Given the description of an element on the screen output the (x, y) to click on. 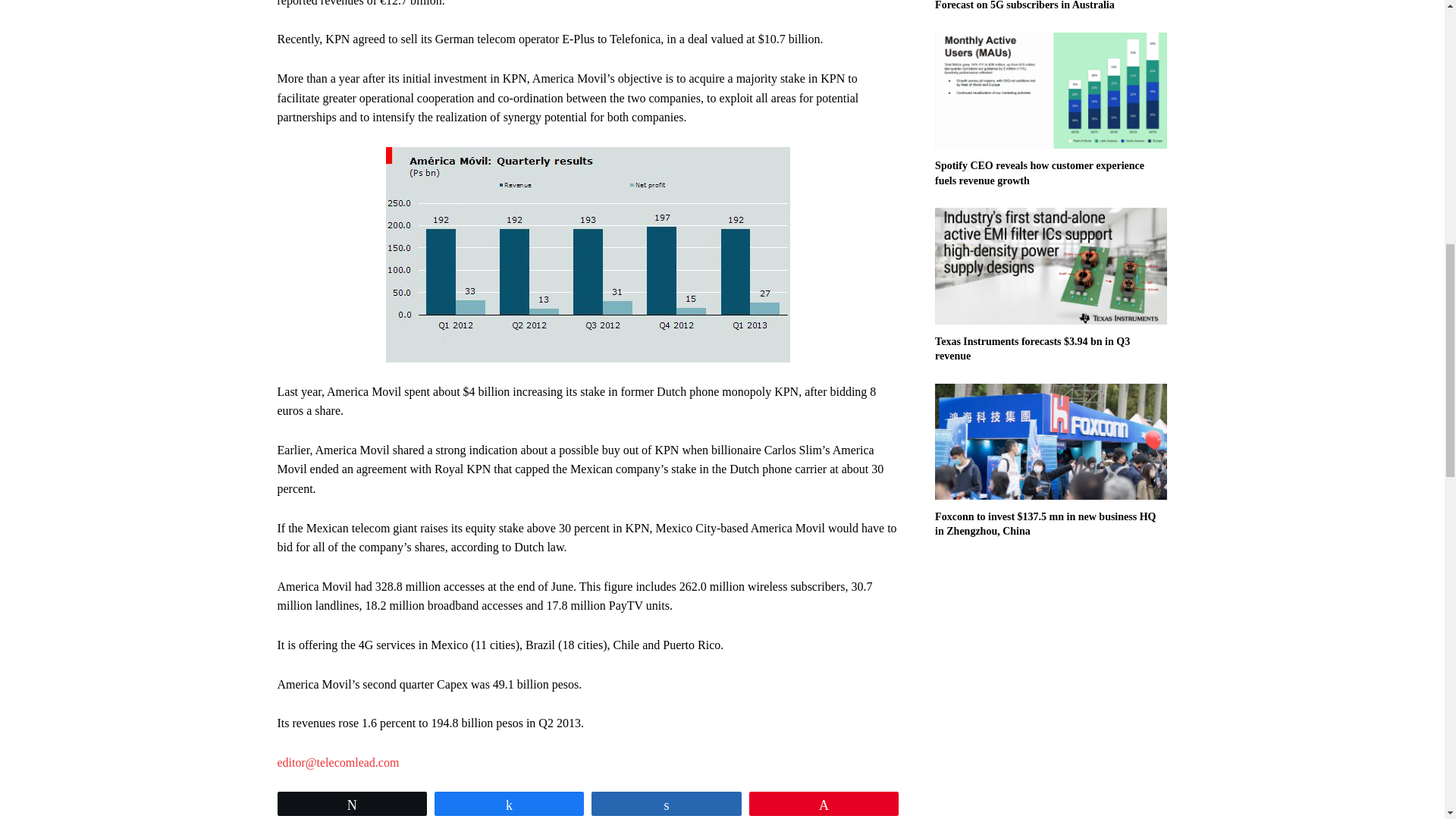
Forecast on 5G subscribers in Australia (1024, 5)
